Given the description of an element on the screen output the (x, y) to click on. 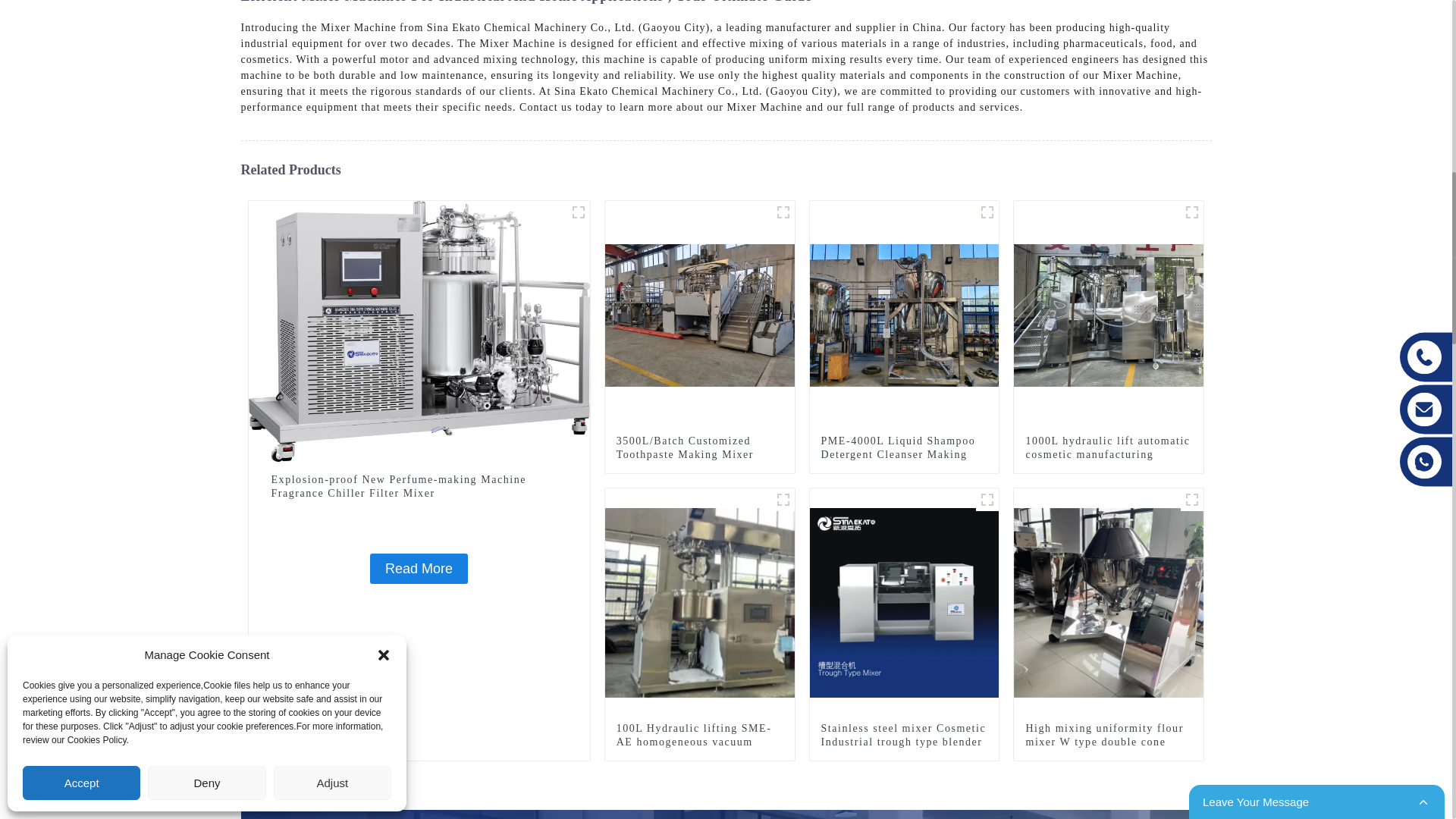
perfume freezer mixer (578, 211)
Read More (418, 568)
Toothpaste machine set (782, 211)
